Given the description of an element on the screen output the (x, y) to click on. 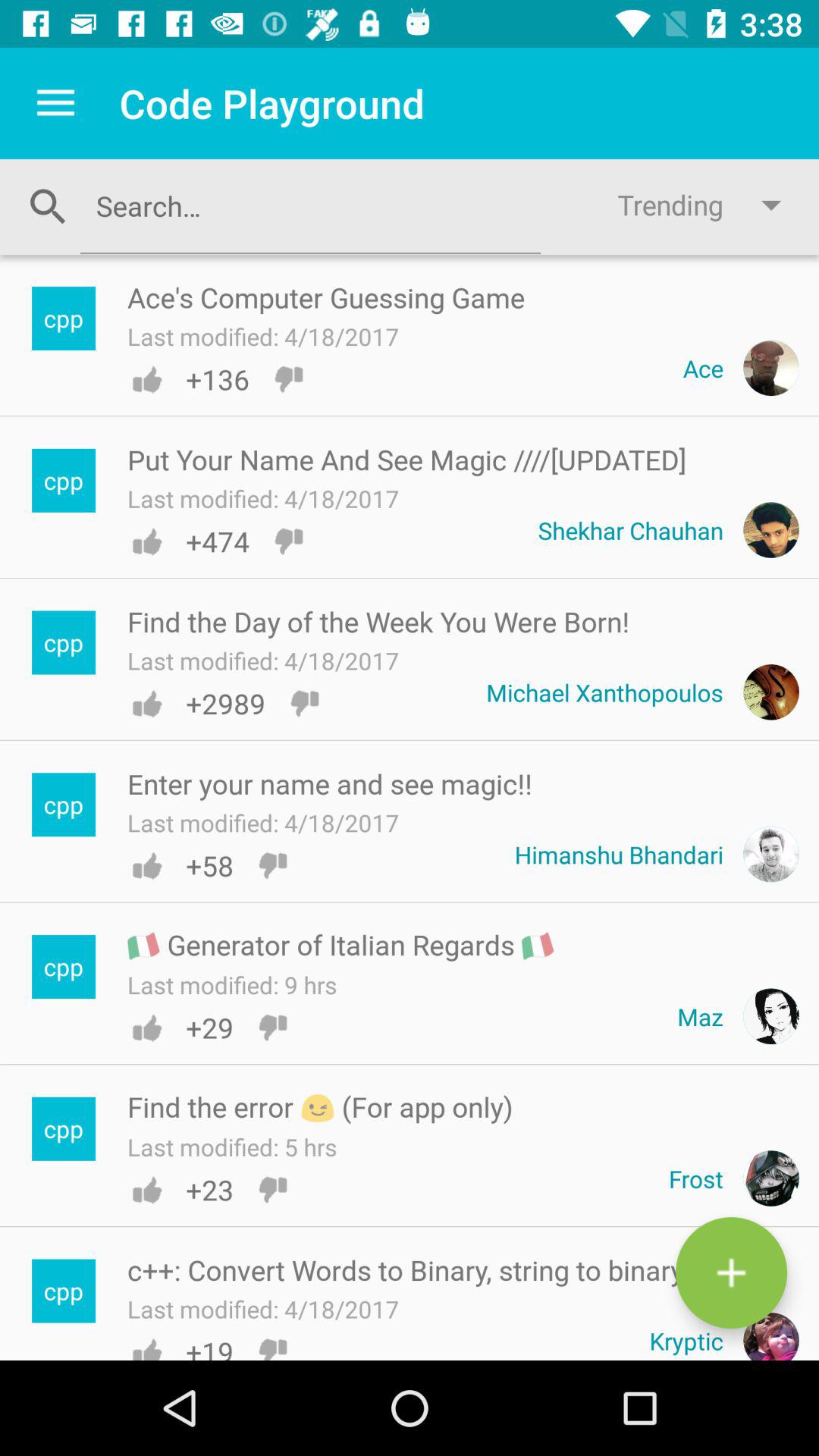
click the add option (731, 1272)
